Given the description of an element on the screen output the (x, y) to click on. 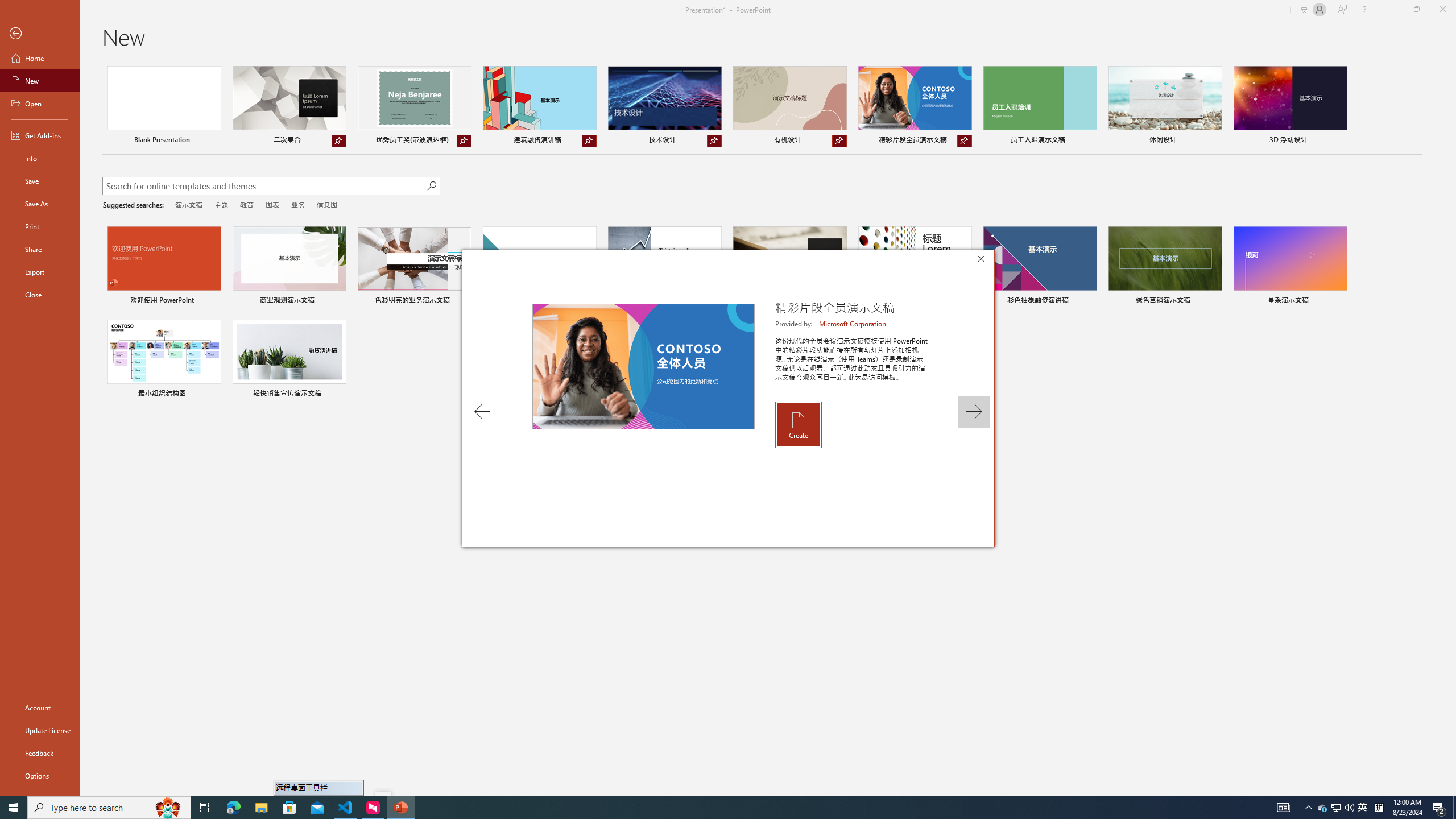
Options (40, 775)
Next Template (974, 411)
Search for online templates and themes (264, 187)
Export (40, 271)
